Given the description of an element on the screen output the (x, y) to click on. 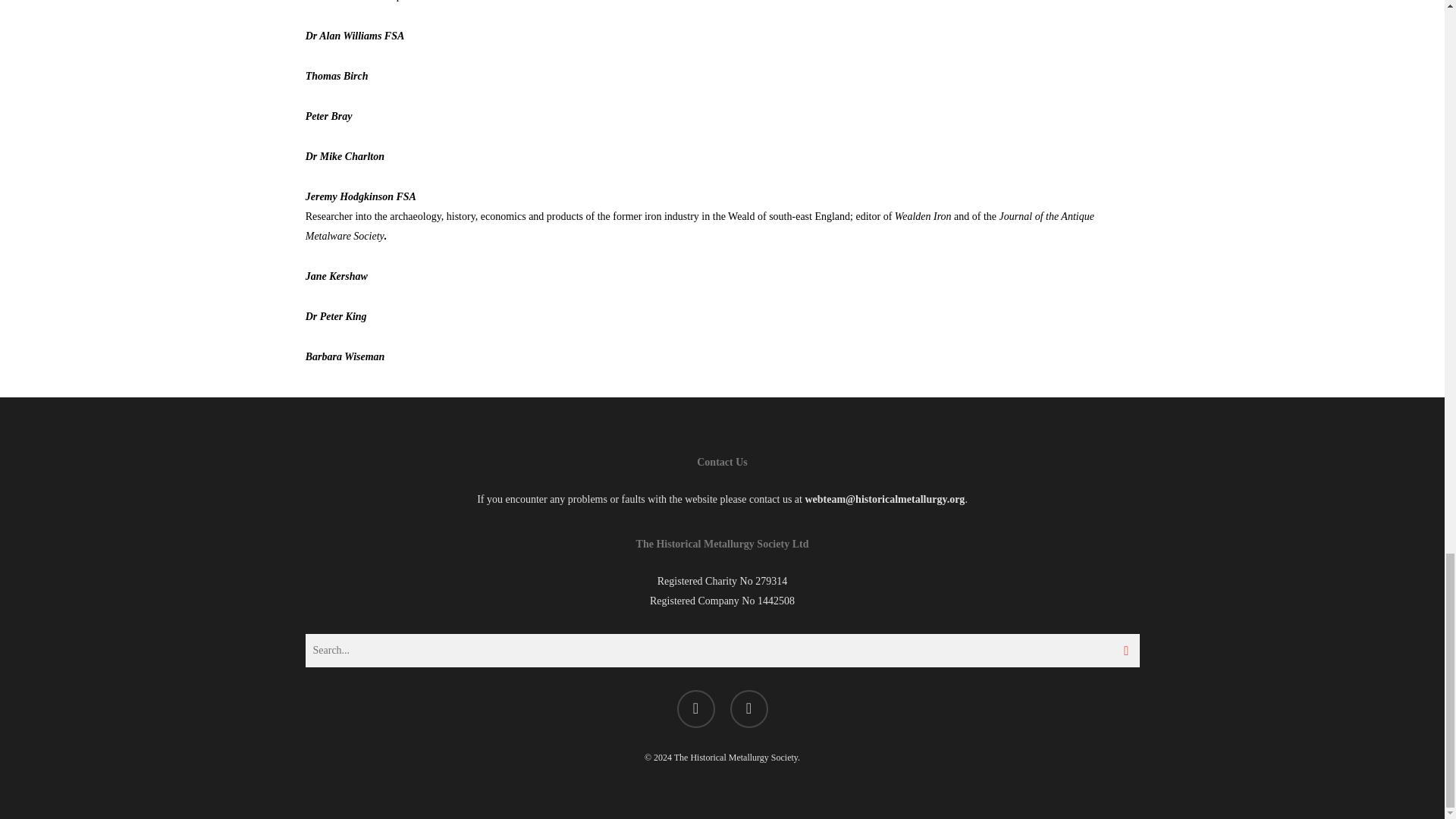
Search for: (721, 650)
